Given the description of an element on the screen output the (x, y) to click on. 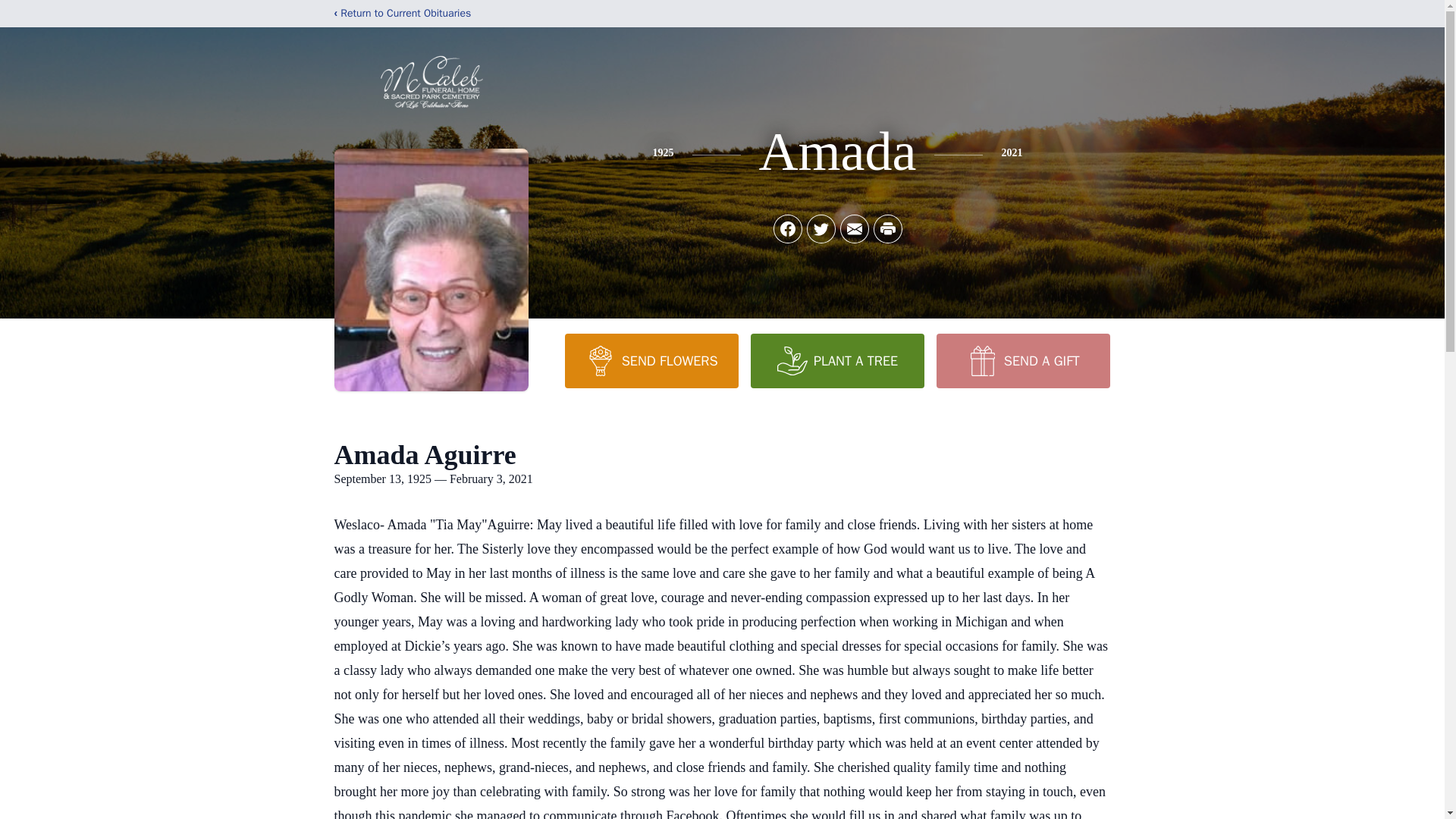
SEND FLOWERS (651, 360)
PLANT A TREE (837, 360)
SEND A GIFT (1022, 360)
